Given the description of an element on the screen output the (x, y) to click on. 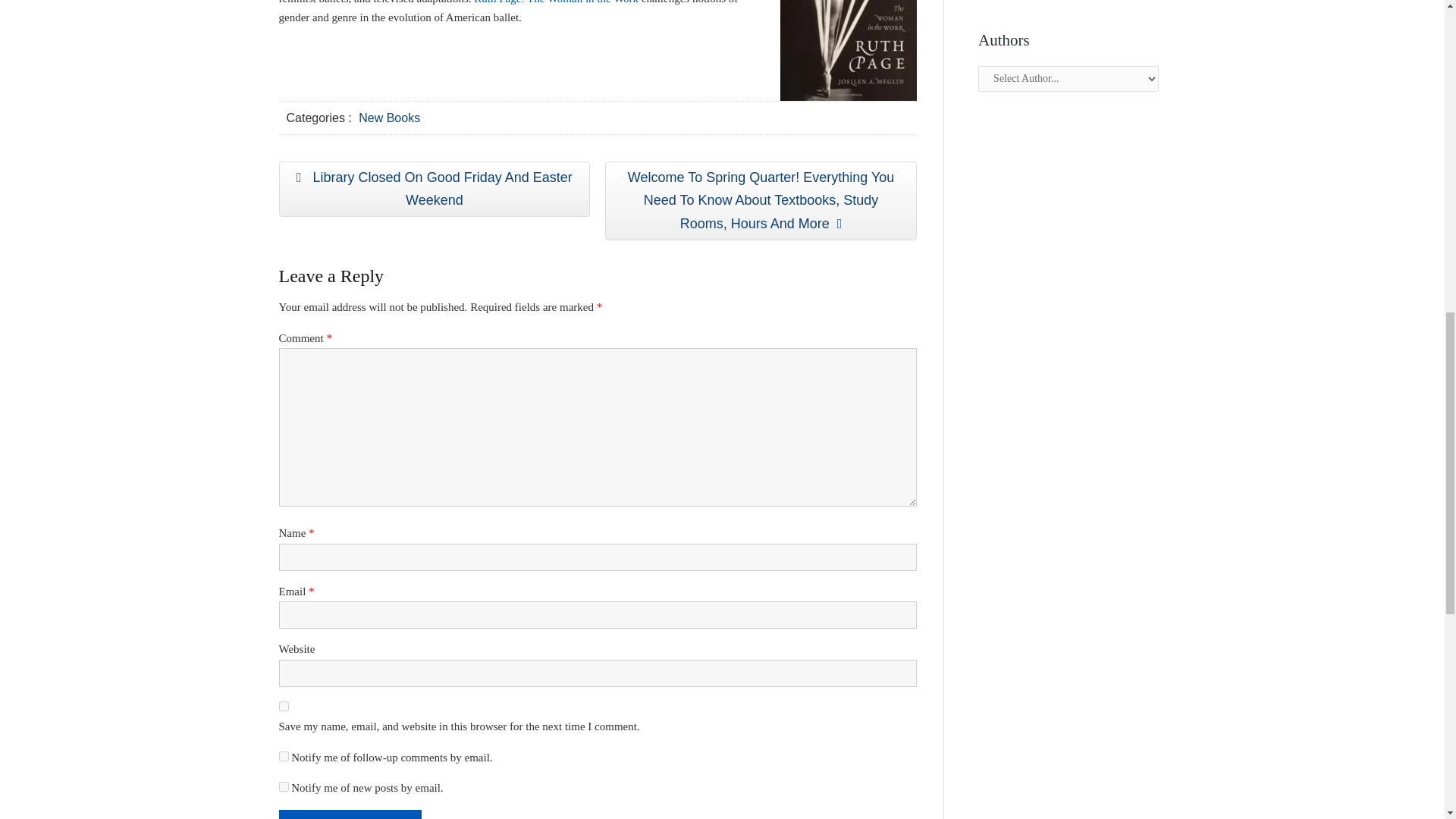
subscribe (283, 786)
Post Comment (350, 814)
Ruth Page: The Woman in the Work (435, 189)
Post Comment (556, 2)
yes (350, 814)
New Books (283, 706)
subscribe (390, 117)
